Given the description of an element on the screen output the (x, y) to click on. 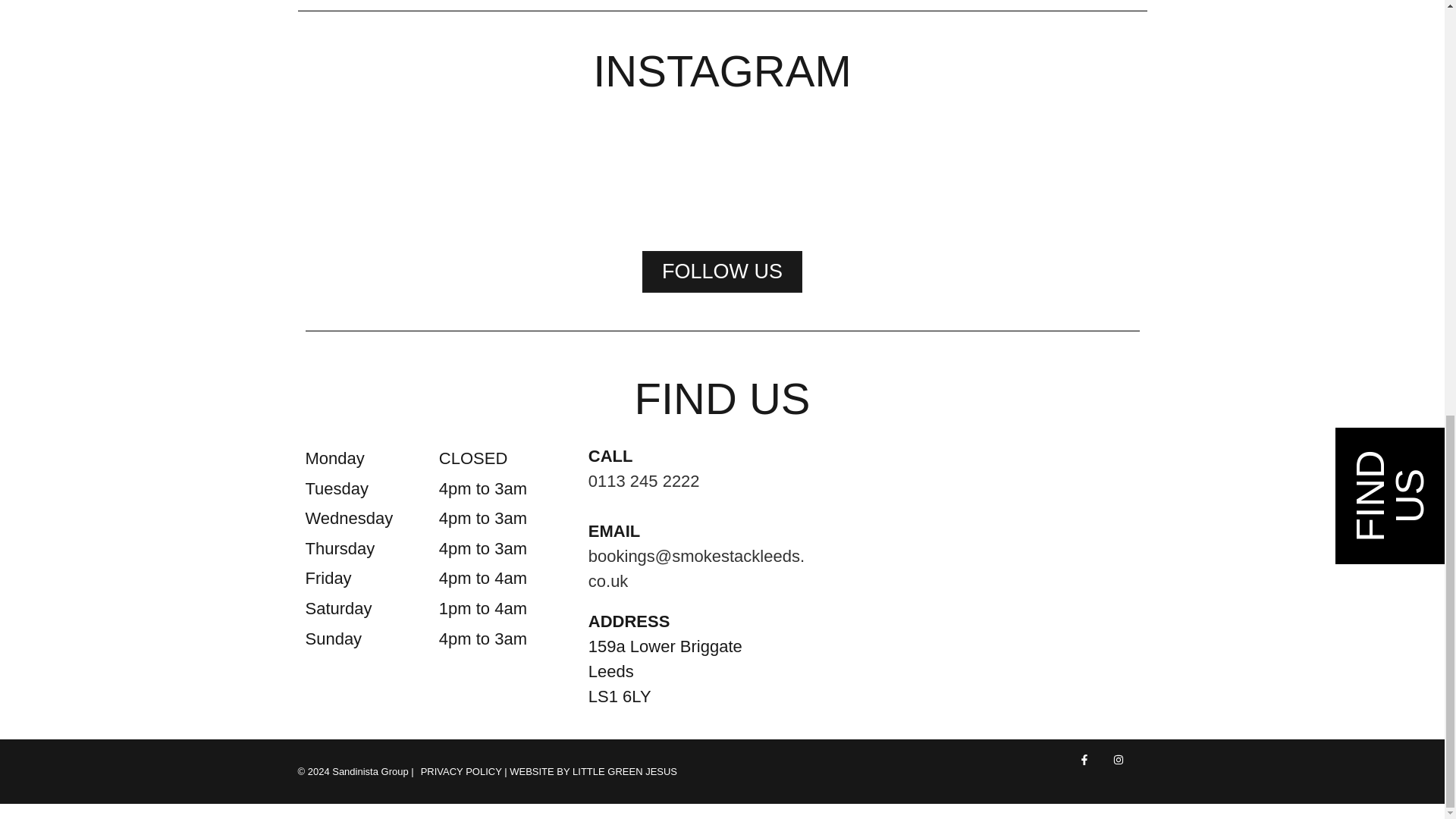
Smokestack, 159A Lower Briggate, Leeds LS1 6LY (977, 568)
